Given the description of an element on the screen output the (x, y) to click on. 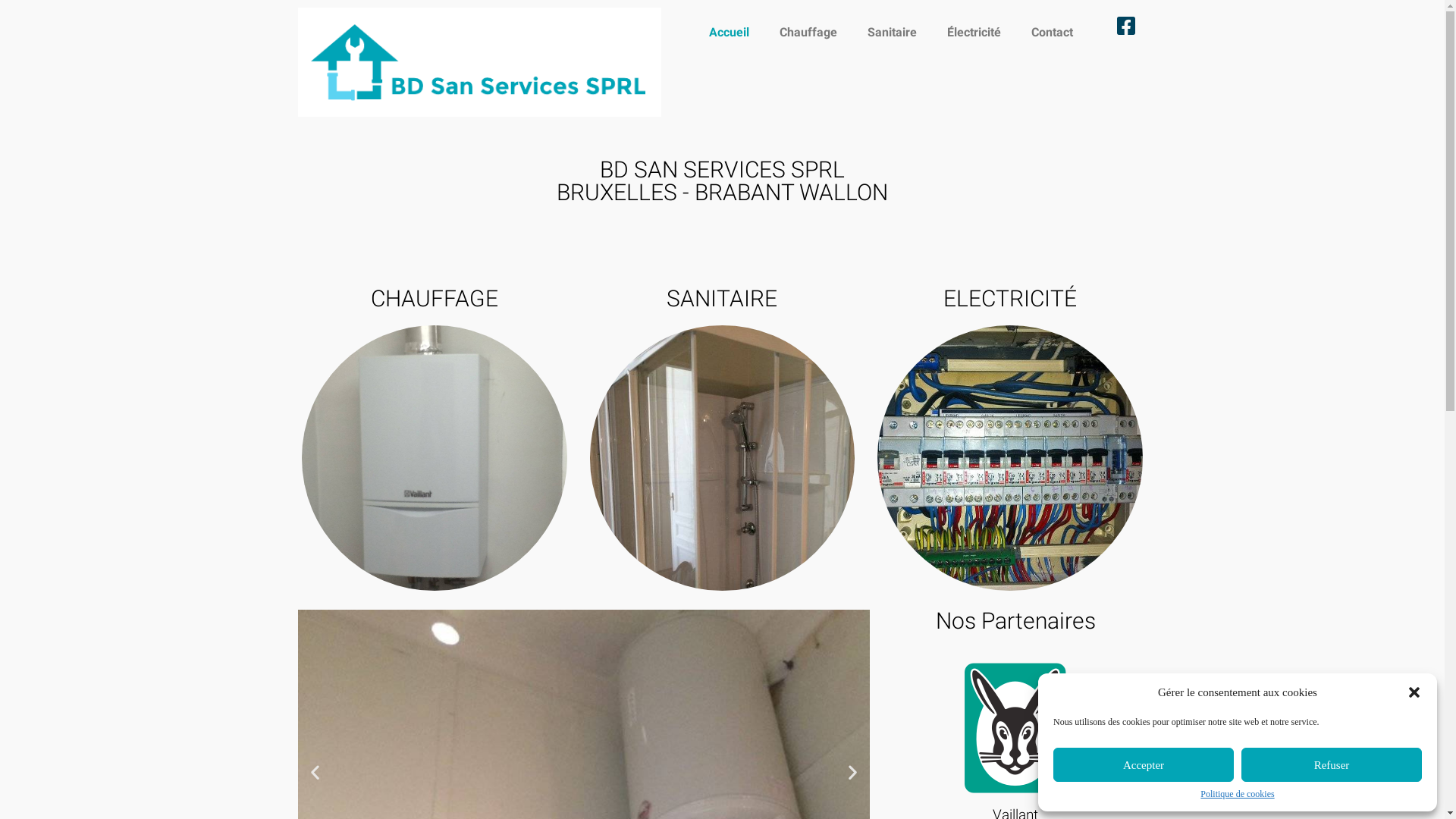
Contact Element type: text (1052, 32)
Sanitaire Element type: text (891, 32)
Accueil Element type: text (728, 32)
Refuser Element type: text (1331, 764)
Chauffage Element type: text (808, 32)
Accepter Element type: text (1143, 764)
Politique de cookies Element type: text (1237, 794)
